Given the description of an element on the screen output the (x, y) to click on. 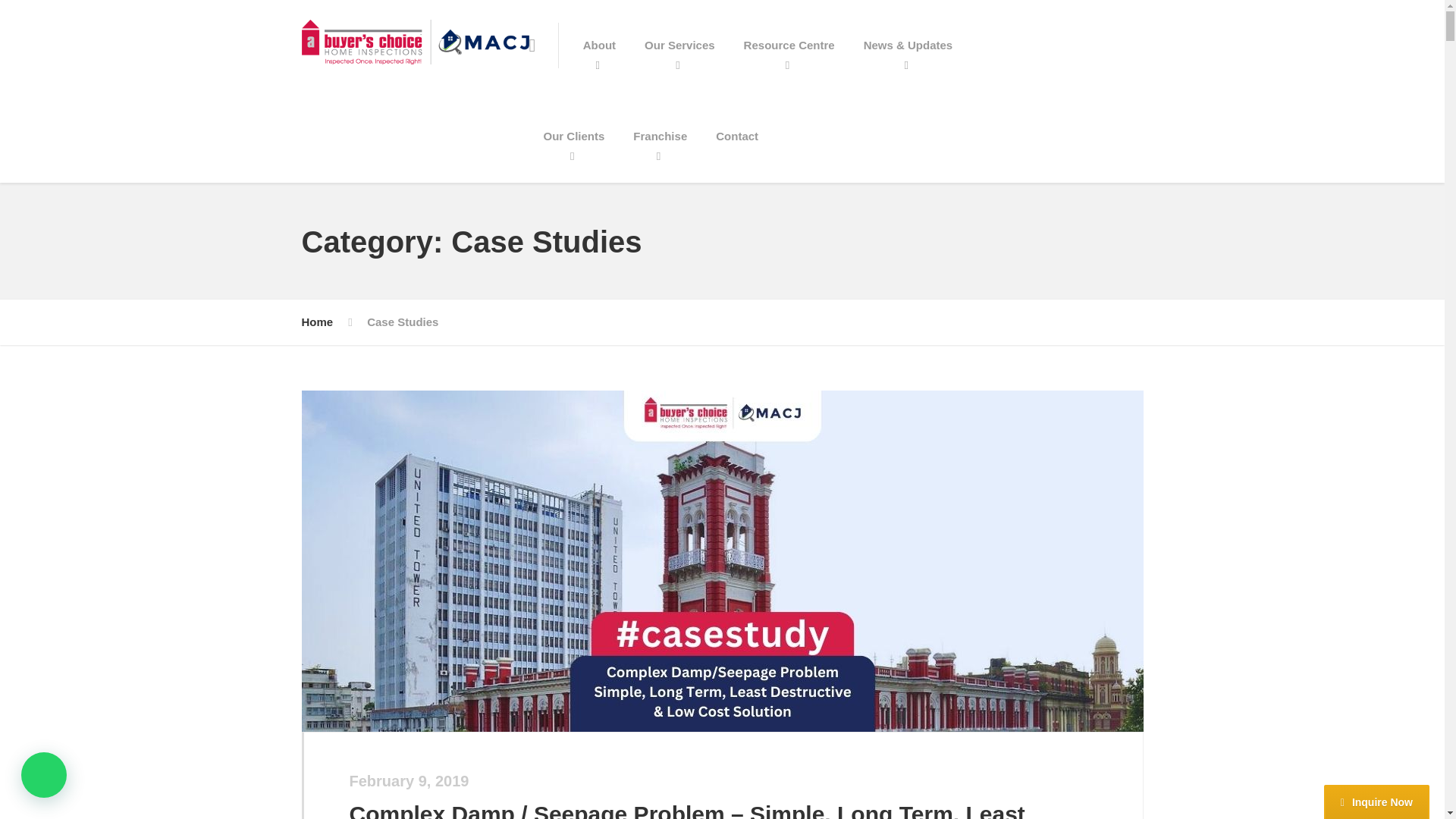
Franchise (659, 135)
Our Clients (574, 135)
Resource Centre (788, 45)
Our Services (679, 45)
